Given the description of an element on the screen output the (x, y) to click on. 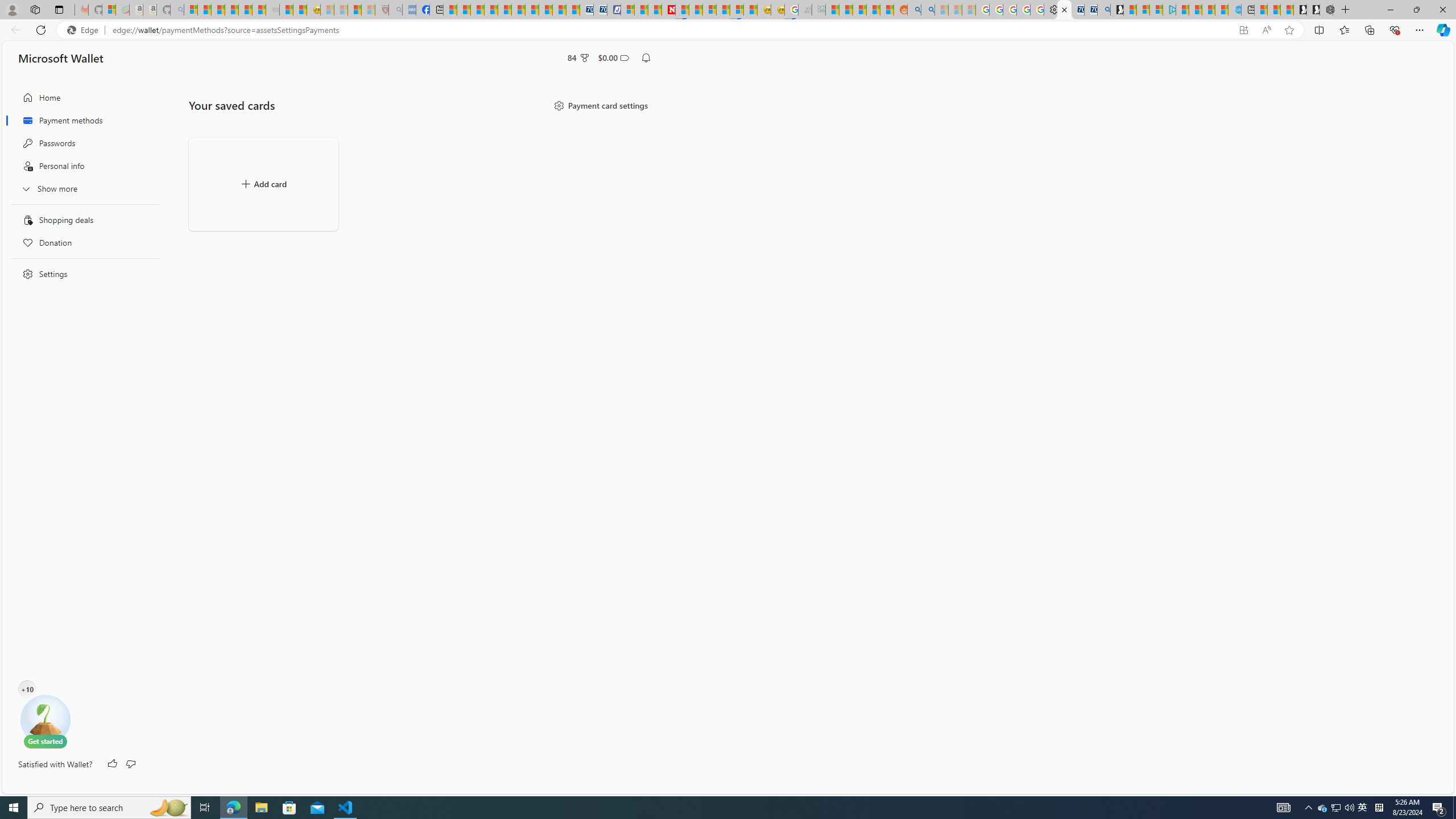
Add card (263, 184)
10 water drops in your E-tree (26, 689)
Donation (81, 242)
